Given the description of an element on the screen output the (x, y) to click on. 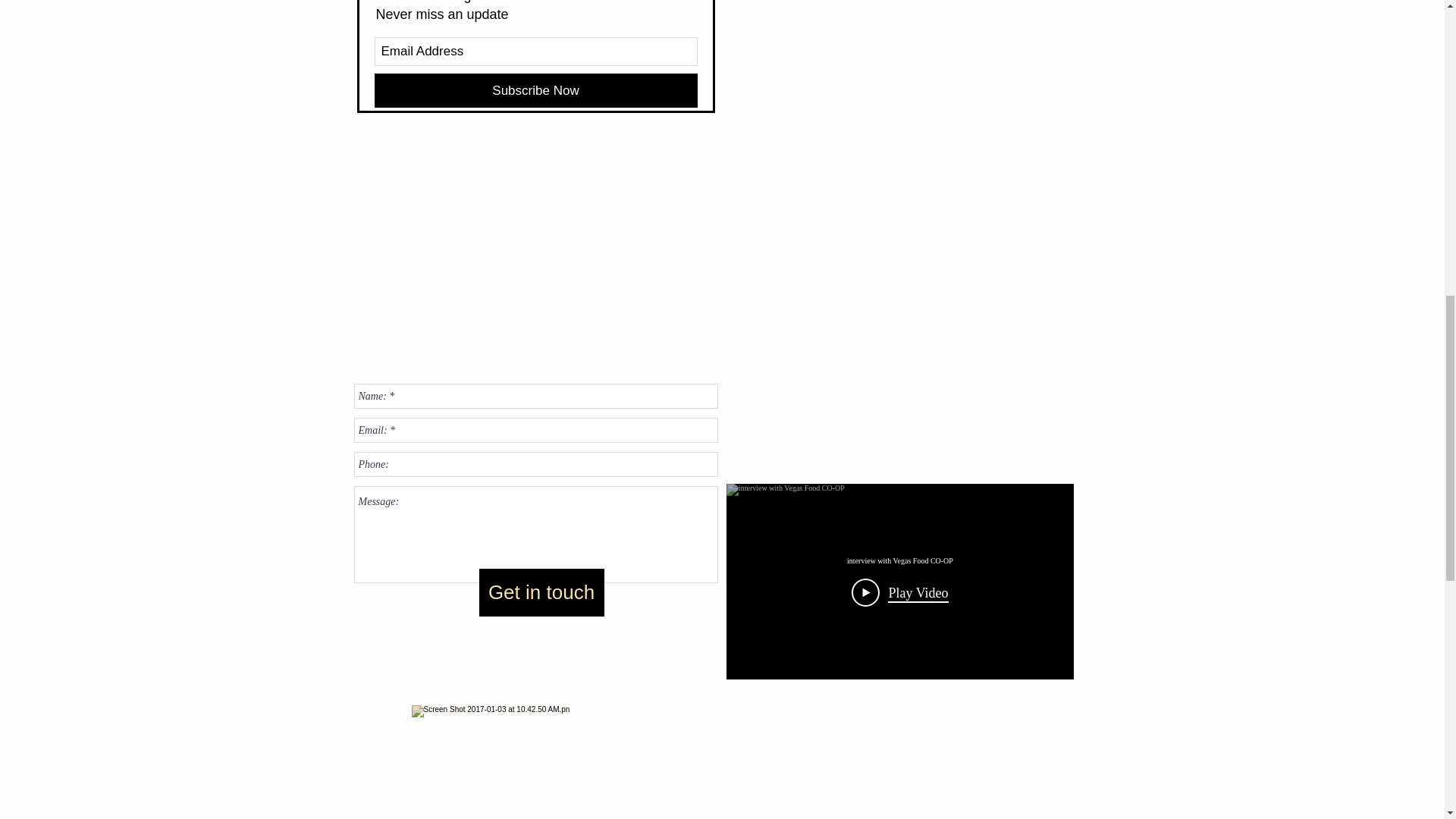
interview with Vegas Food CO-OP (899, 560)
Subscribe Now (535, 90)
Get in touch (541, 592)
